Given the description of an element on the screen output the (x, y) to click on. 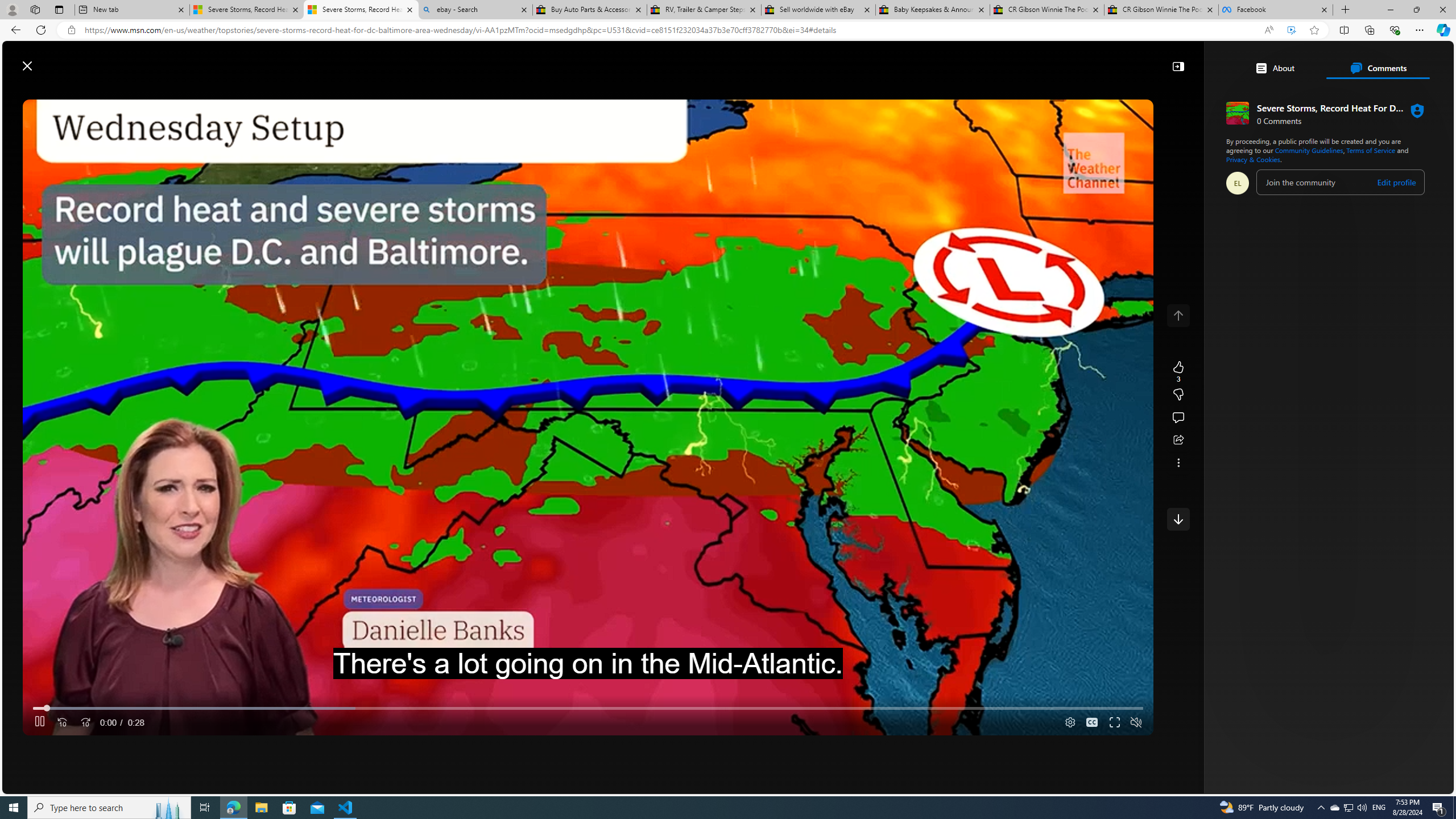
Captions (1091, 723)
Feedback (1410, 784)
Microsoft rewards (1382, 60)
Open navigation menu (292, 92)
Community Guidelines (1308, 149)
Open Copilot (930, 59)
Edit profile (1396, 181)
